Given the description of an element on the screen output the (x, y) to click on. 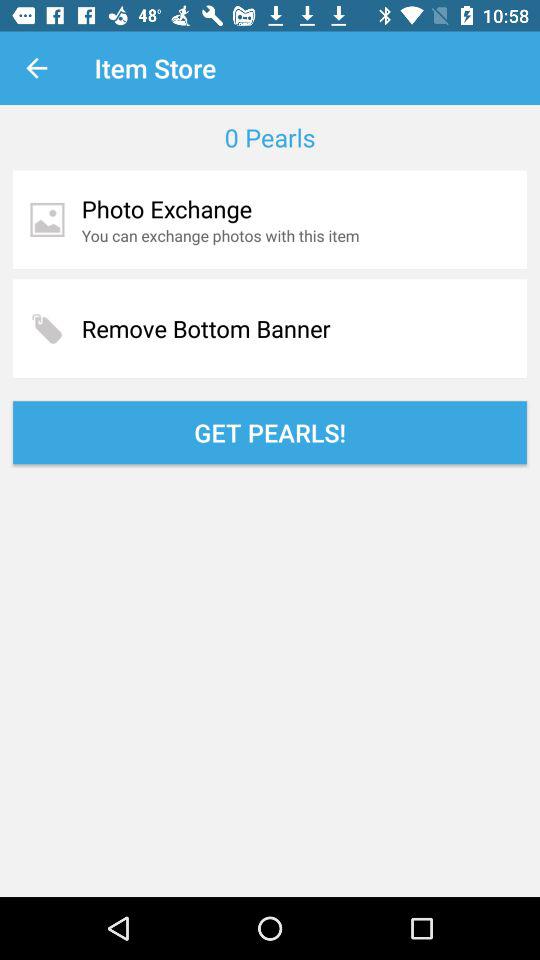
launch item next to item store (36, 68)
